Given the description of an element on the screen output the (x, y) to click on. 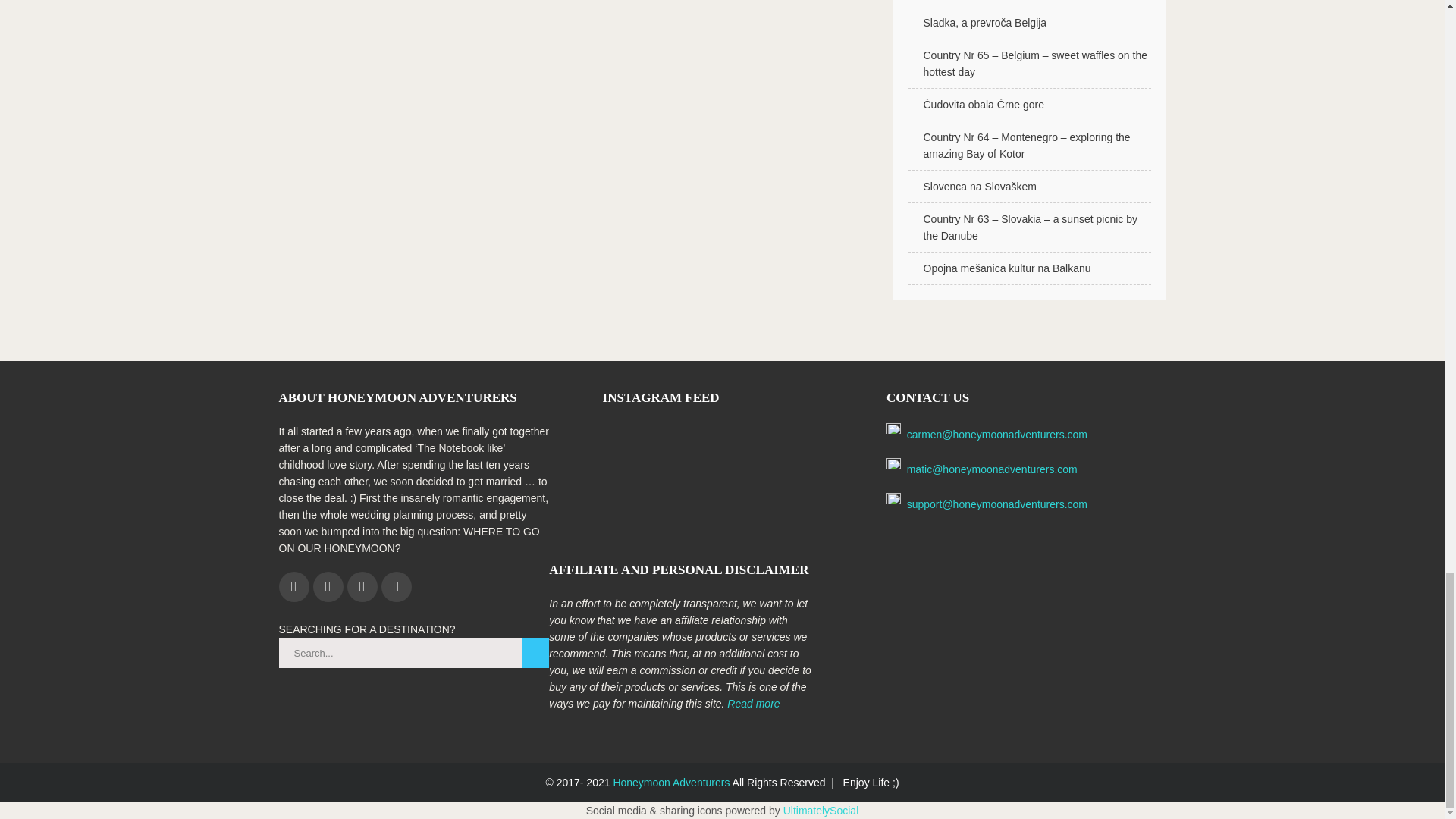
instagram (327, 586)
youtube (362, 586)
facebook (293, 586)
twitter (395, 586)
